Given the description of an element on the screen output the (x, y) to click on. 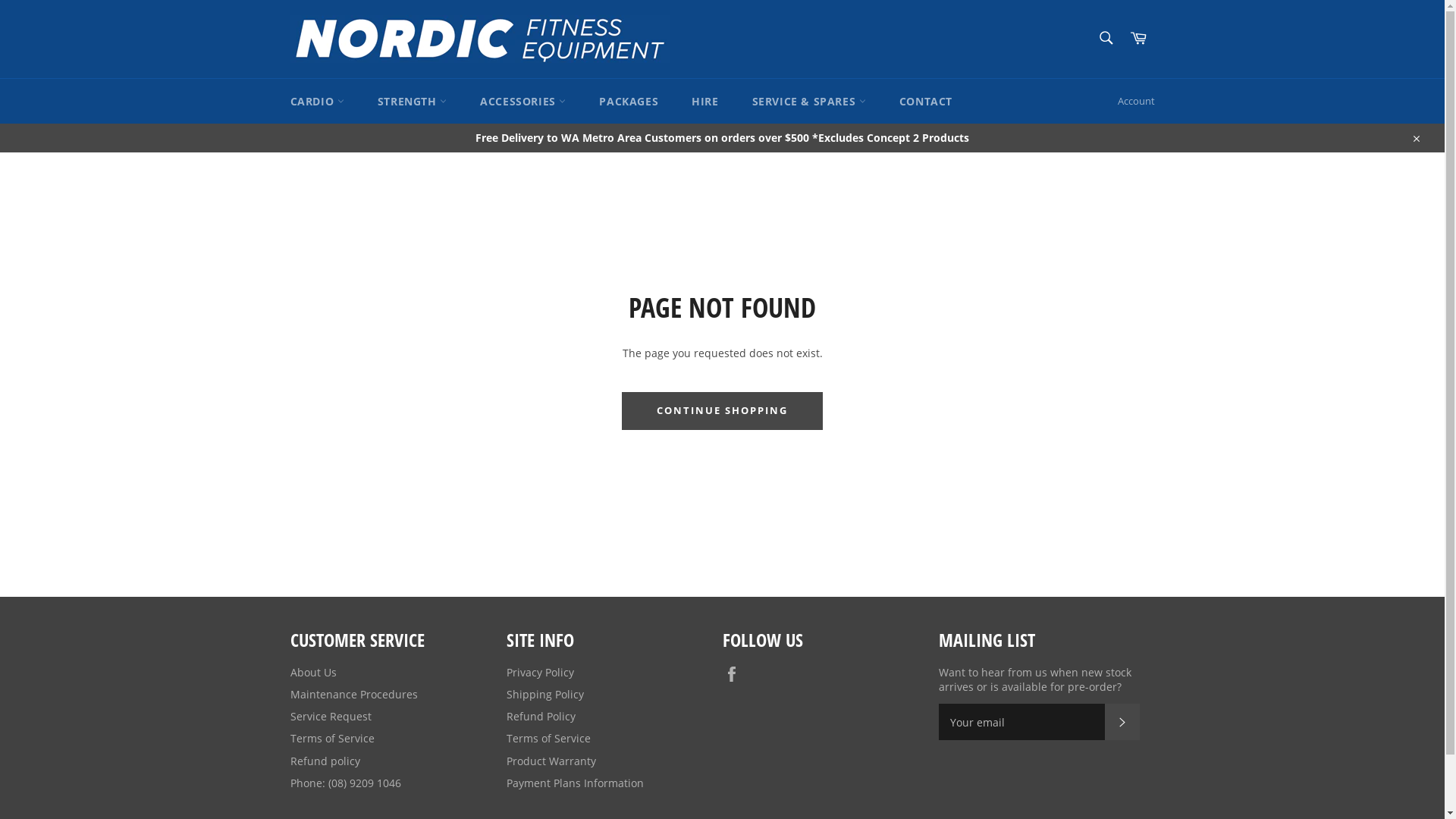
Privacy Policy Element type: text (540, 672)
Account Element type: text (1136, 101)
Facebook Element type: text (734, 674)
CONTINUE SHOPPING Element type: text (721, 410)
Search Element type: text (1105, 37)
Phone: (08) 9209 1046 Element type: text (344, 782)
CONTACT Element type: text (925, 100)
ACCESSORIES Element type: text (522, 100)
STRENGTH Element type: text (411, 100)
Maintenance Procedures Element type: text (353, 694)
Product Warranty Element type: text (551, 760)
Shipping Policy Element type: text (544, 694)
SERVICE & SPARES Element type: text (809, 100)
About Us Element type: text (312, 672)
Refund Policy Element type: text (540, 716)
Terms of Service Element type: text (548, 738)
HIRE Element type: text (704, 100)
Refund policy Element type: text (324, 760)
Close Element type: text (1415, 137)
Cart Element type: text (1138, 38)
Terms of Service Element type: text (331, 738)
SUBSCRIBE Element type: text (1121, 721)
Payment Plans Information Element type: text (574, 782)
CARDIO Element type: text (316, 100)
Service Request Element type: text (329, 716)
PACKAGES Element type: text (628, 100)
